Given the description of an element on the screen output the (x, y) to click on. 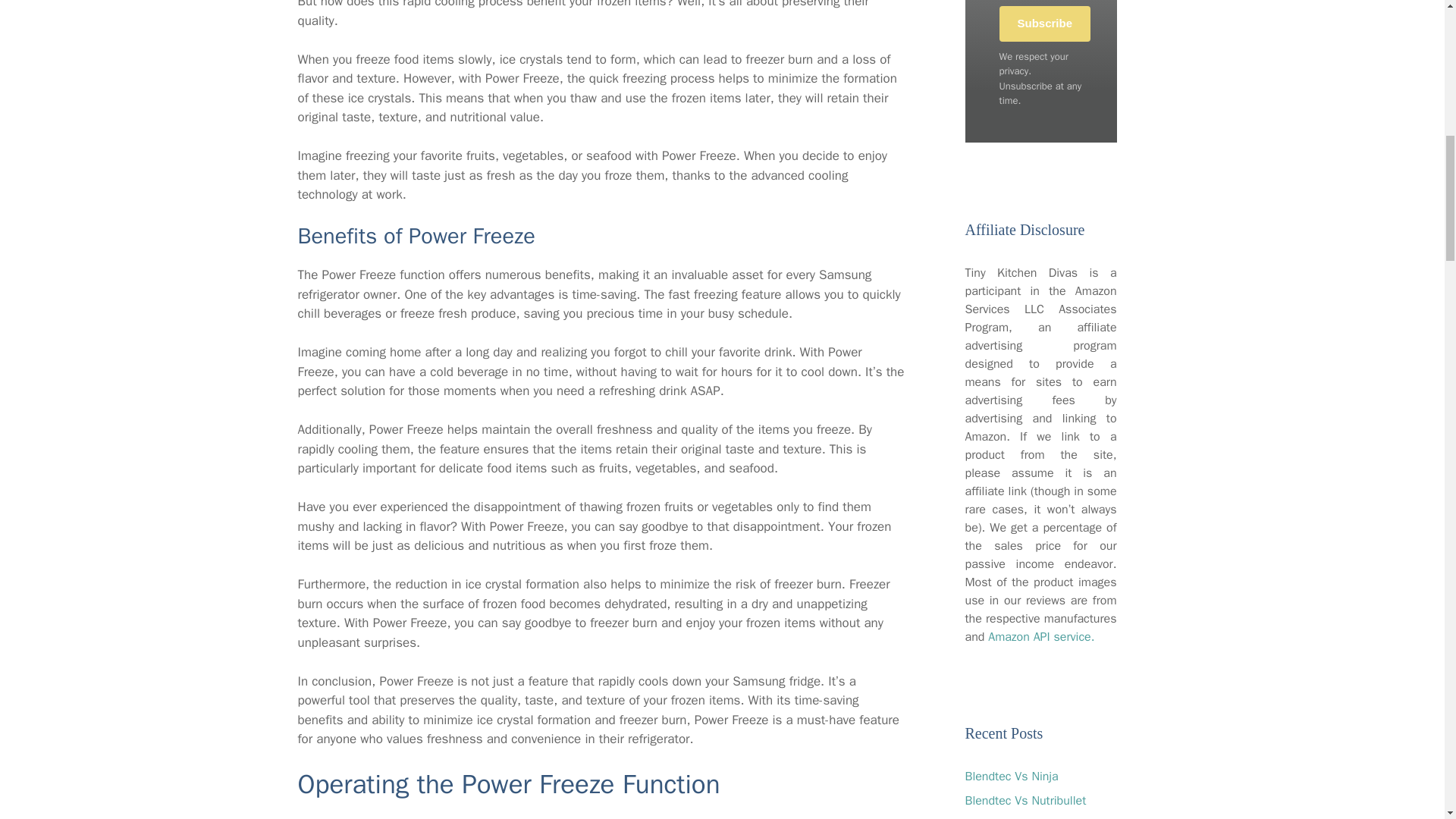
Blendtec Vs Nutribullet (1024, 800)
Blendtec Vs Ninja (1010, 776)
Subscribe (1044, 23)
Amazon API service. (1041, 636)
Scroll back to top (1406, 720)
